Given the description of an element on the screen output the (x, y) to click on. 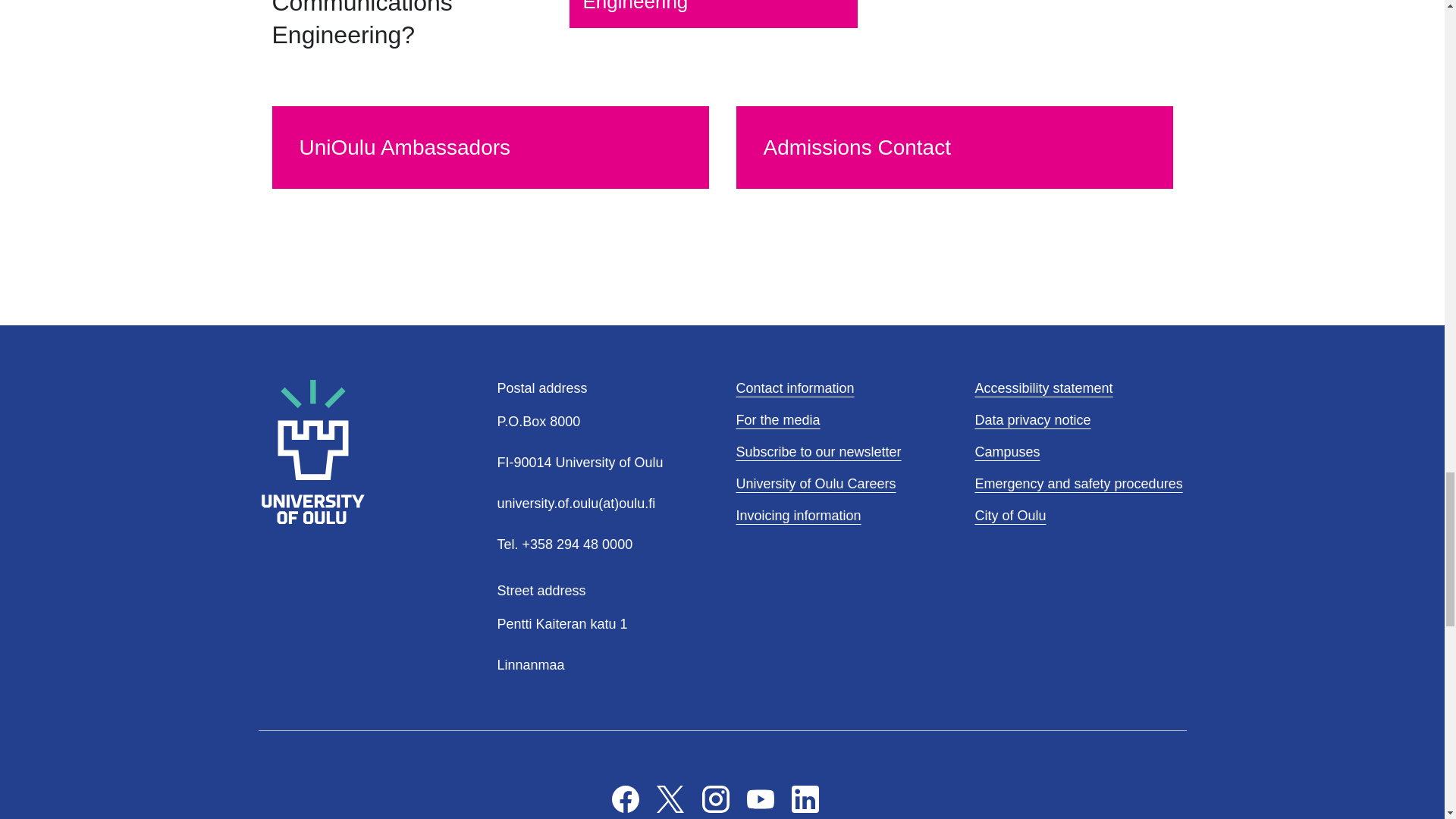
Facebook (625, 799)
Youtube (760, 799)
LinkedIn (805, 799)
Instagram (715, 799)
